Given the description of an element on the screen output the (x, y) to click on. 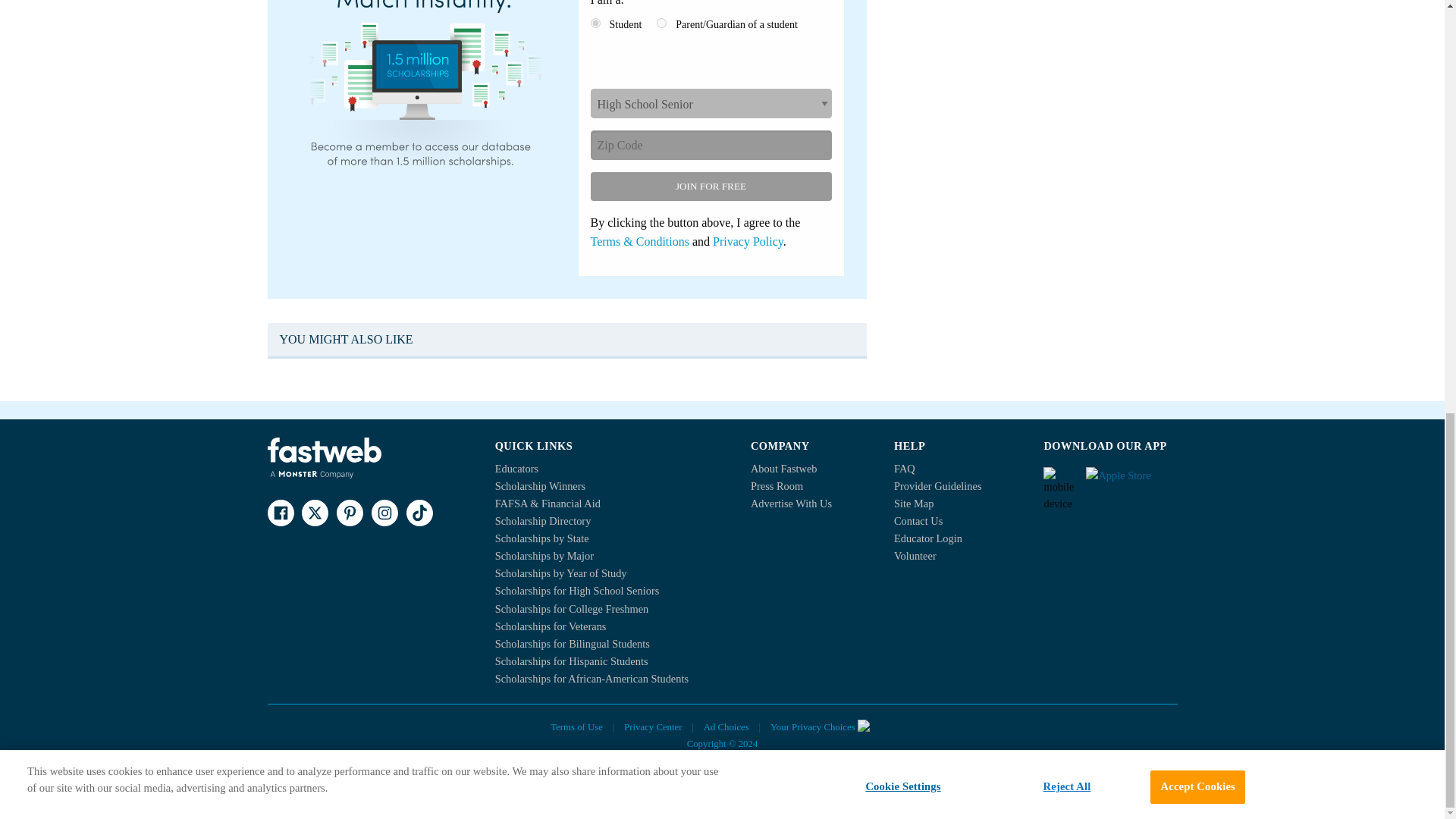
2 (661, 22)
Fastweb on TikTok (419, 512)
1 (594, 22)
Fastweb on Pinterest (349, 512)
Fastweb on IOS (1131, 480)
Fastweb on Facebook (280, 512)
Join for free (710, 185)
Fastweb on Instagram (384, 512)
